Given the description of an element on the screen output the (x, y) to click on. 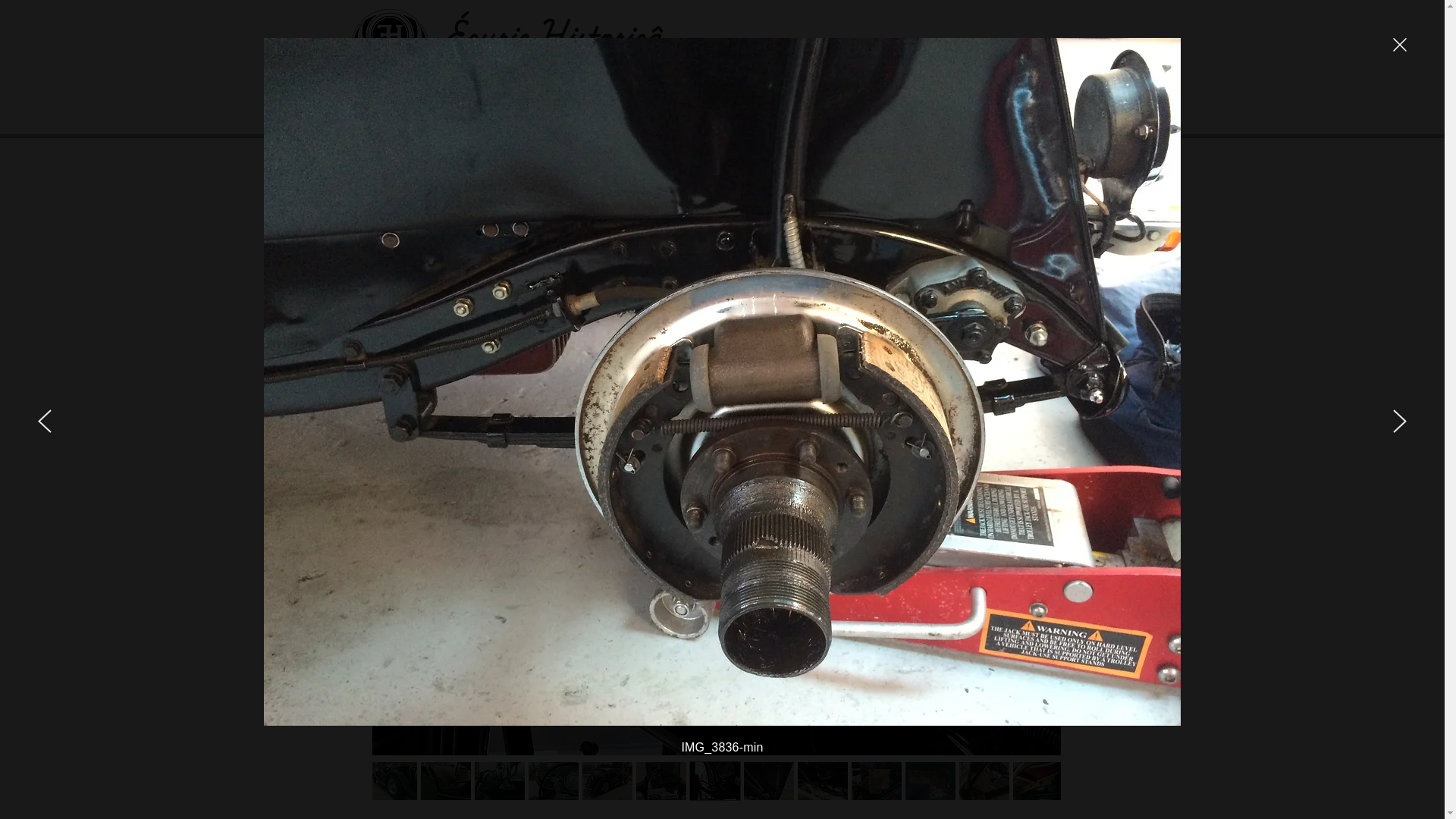
Service Element type: text (735, 103)
Contact Element type: text (871, 103)
Motorcars For Sale Element type: text (600, 103)
Home Element type: text (463, 103)
